Given the description of an element on the screen output the (x, y) to click on. 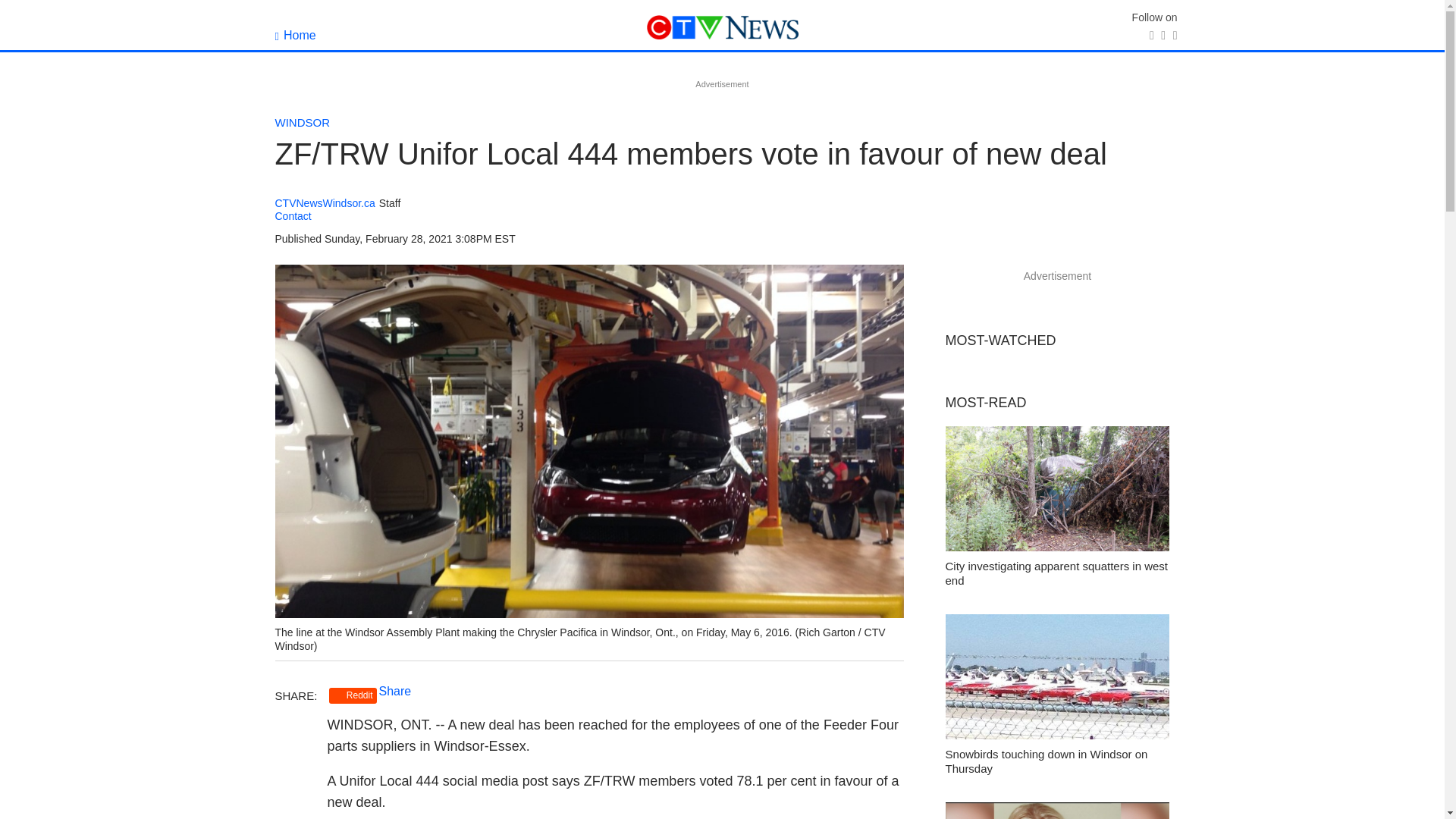
Reddit (353, 695)
Share (395, 690)
Home (295, 34)
Contact (293, 215)
CTVNewsWindsor.ca (324, 203)
WINDSOR (302, 122)
